Given the description of an element on the screen output the (x, y) to click on. 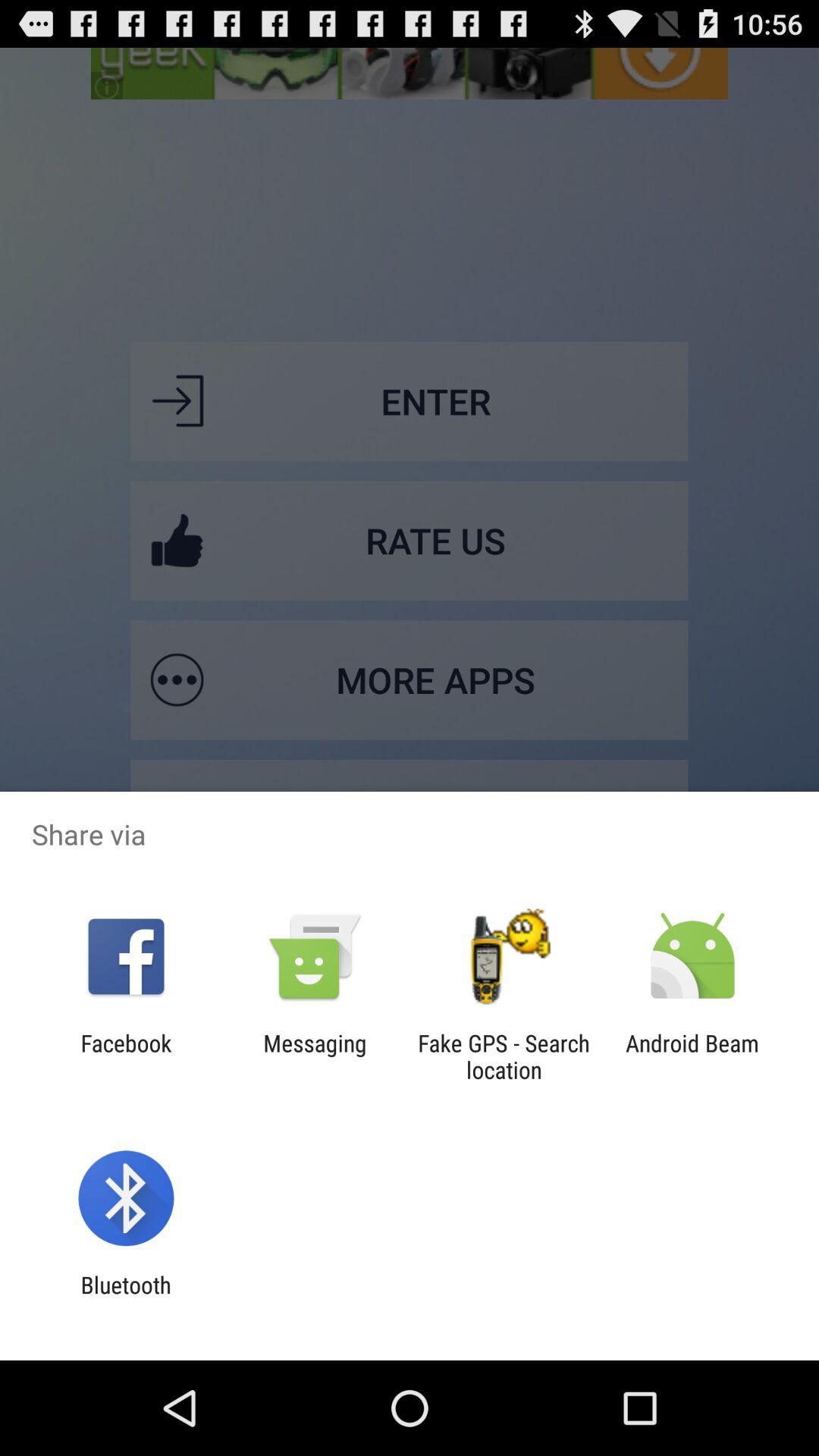
open android beam item (692, 1056)
